Given the description of an element on the screen output the (x, y) to click on. 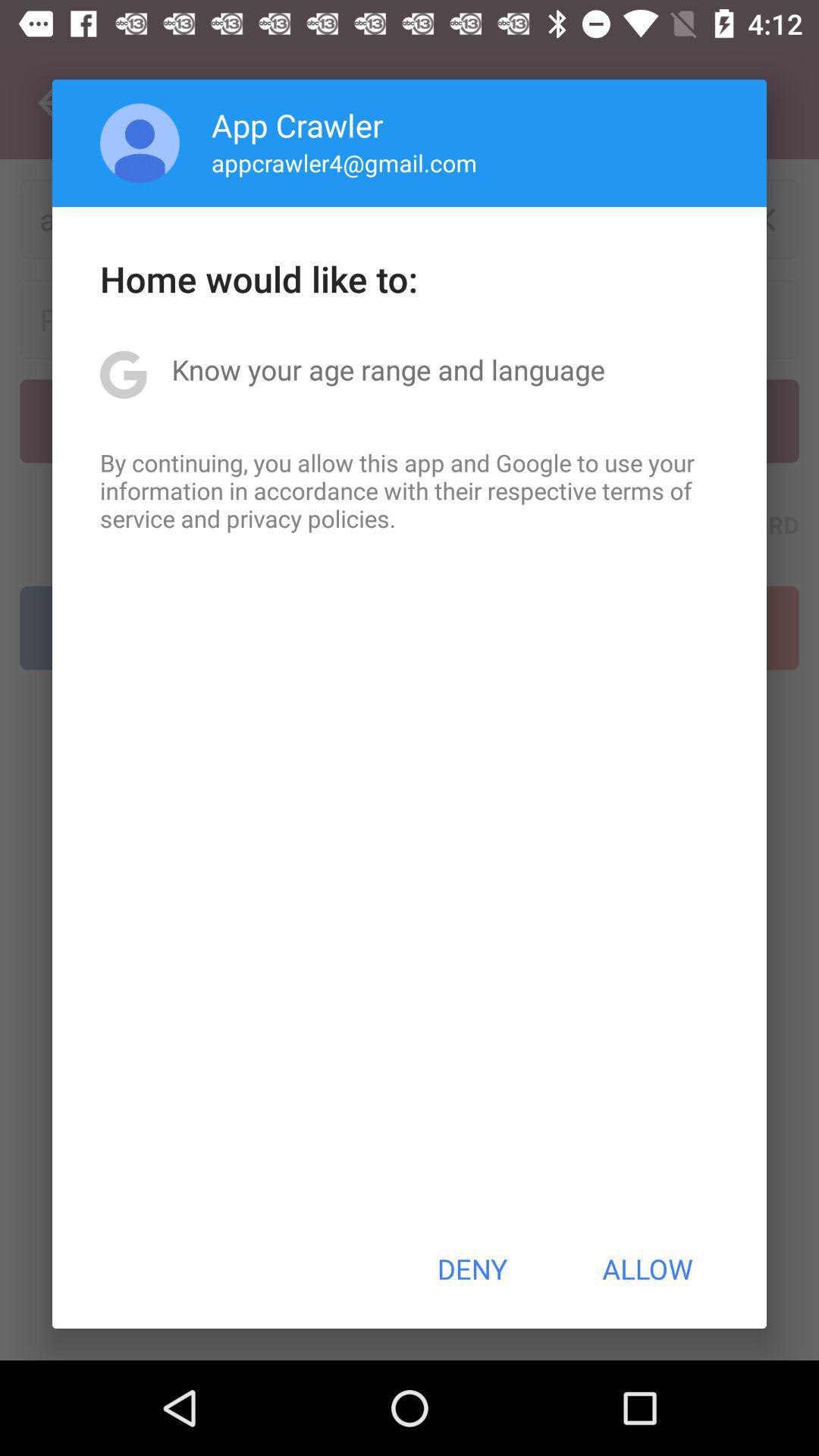
jump to deny icon (471, 1268)
